Given the description of an element on the screen output the (x, y) to click on. 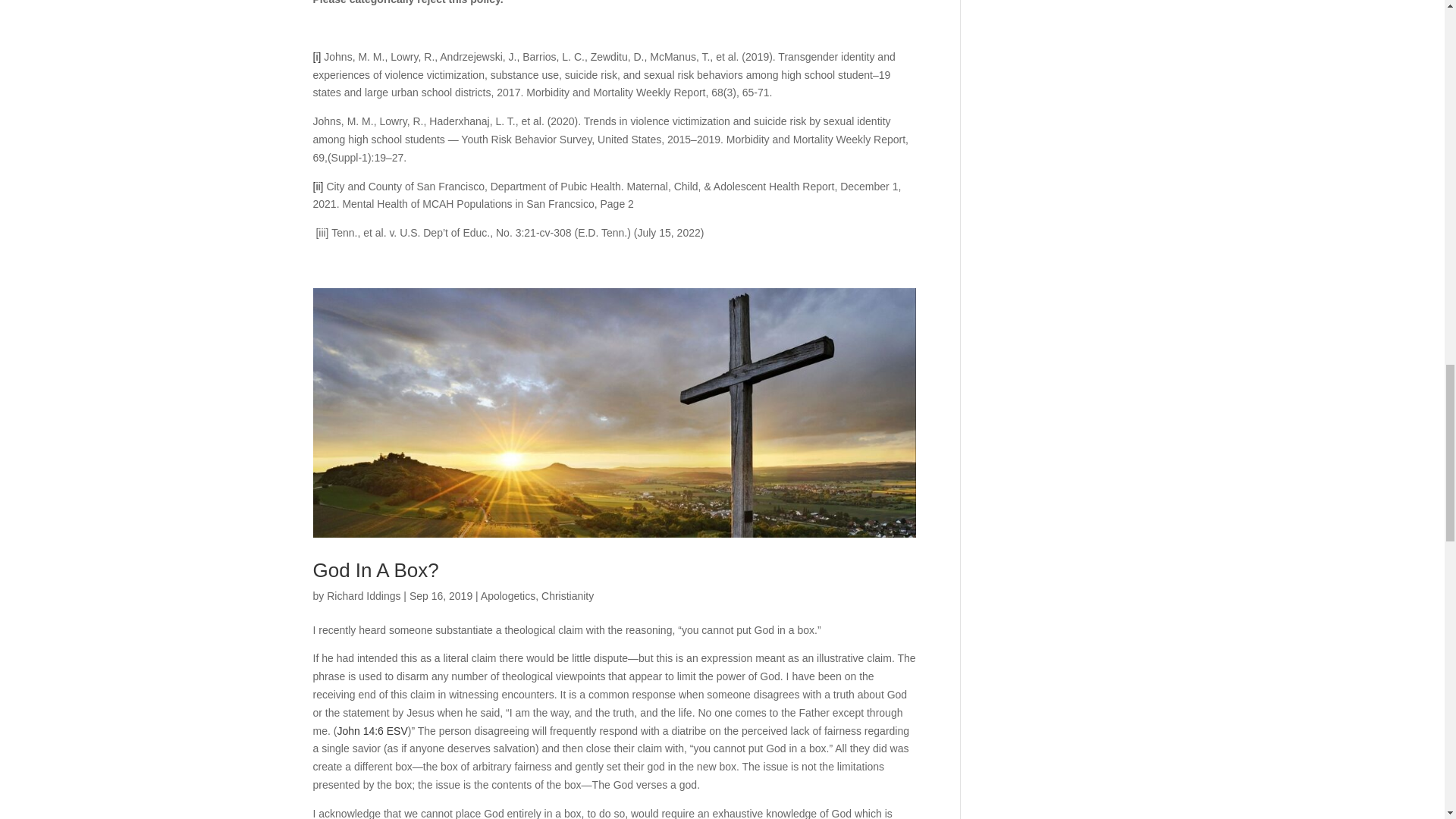
John 14:6 ESV (371, 730)
God In A Box? (375, 569)
Richard Iddings (363, 595)
Posts by Richard Iddings (363, 595)
Apologetics (507, 595)
Christianity (567, 595)
